Given the description of an element on the screen output the (x, y) to click on. 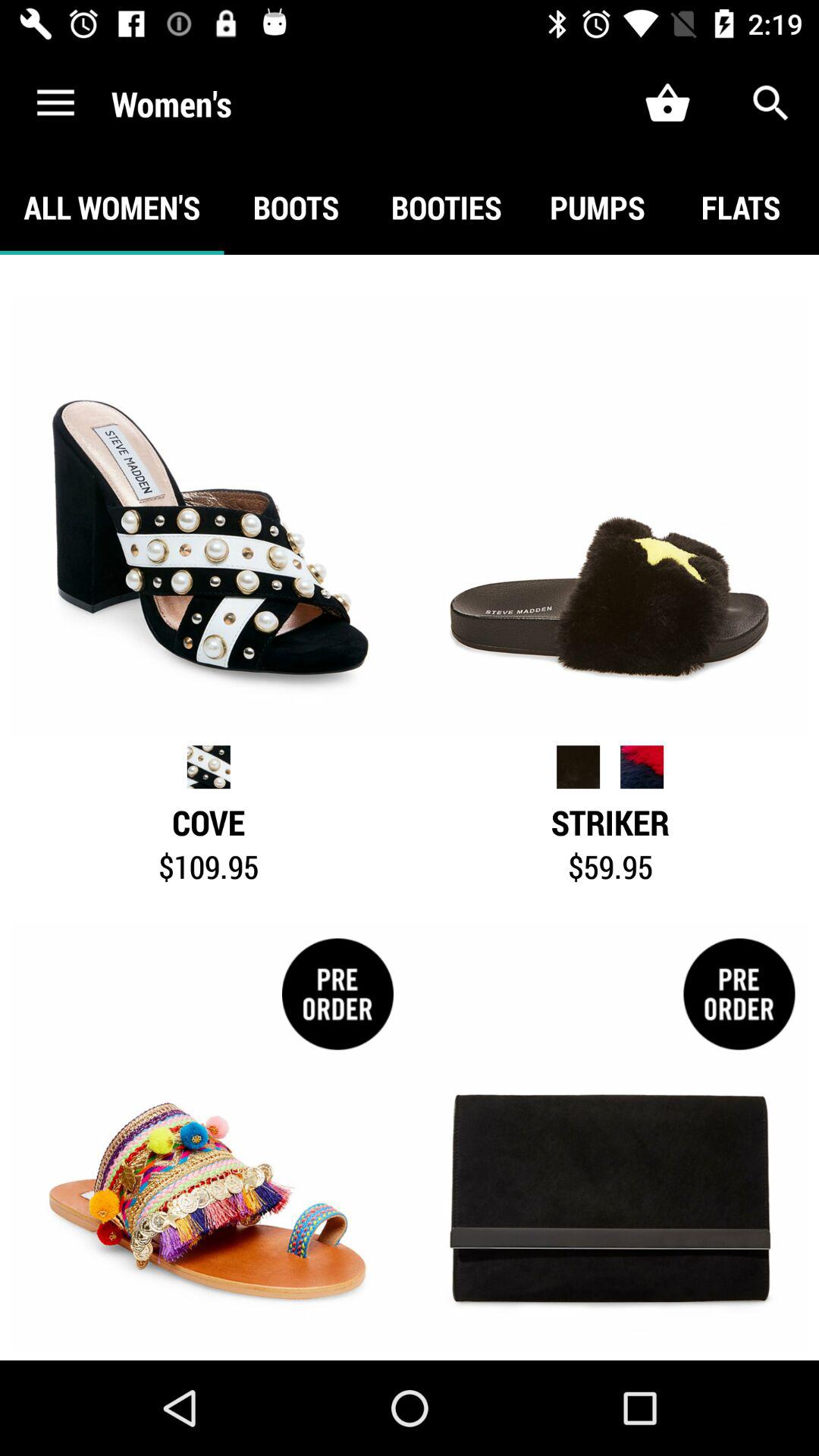
launch the item above the all women's (55, 103)
